Given the description of an element on the screen output the (x, y) to click on. 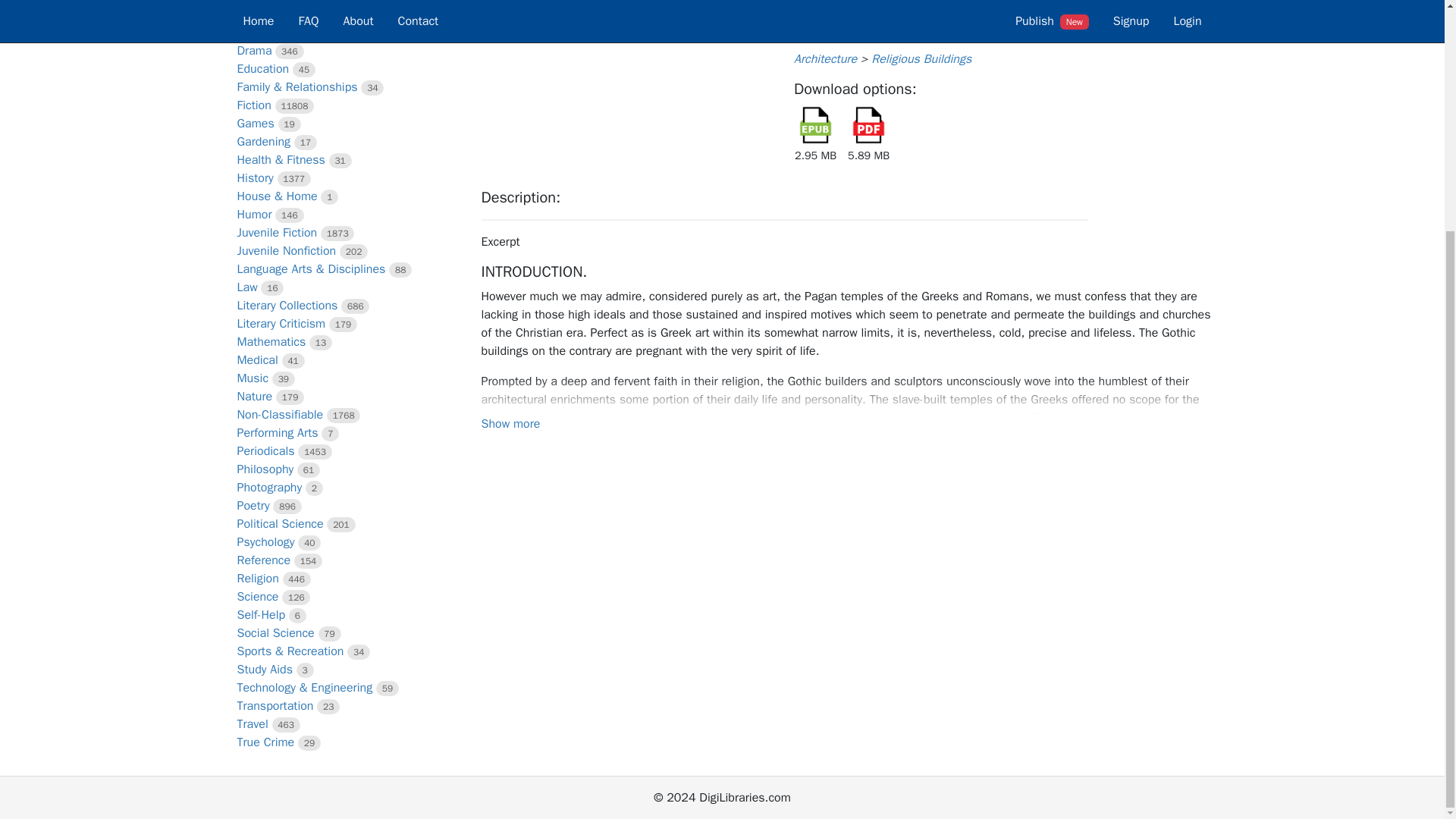
History (254, 177)
Drama (252, 50)
Juvenile Fiction (276, 232)
Gardening (262, 141)
Mathematics (270, 341)
Law (246, 287)
Juvenile Nonfiction (285, 250)
Humor (252, 214)
Medical (256, 359)
Games (254, 123)
Literary Criticism (279, 323)
Computers (264, 2)
Education (261, 68)
Fiction (252, 105)
Literary Collections (286, 305)
